Given the description of an element on the screen output the (x, y) to click on. 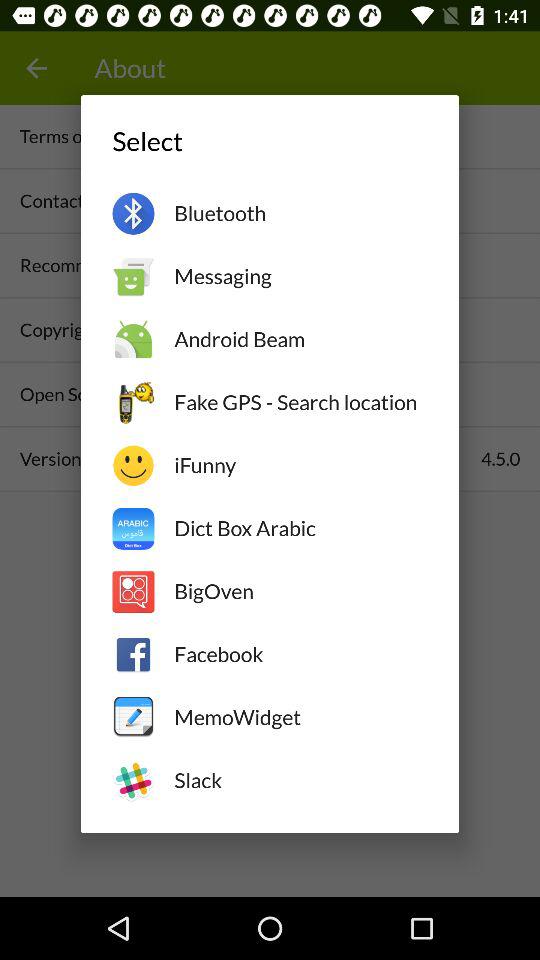
open icon below the messaging item (300, 339)
